Given the description of an element on the screen output the (x, y) to click on. 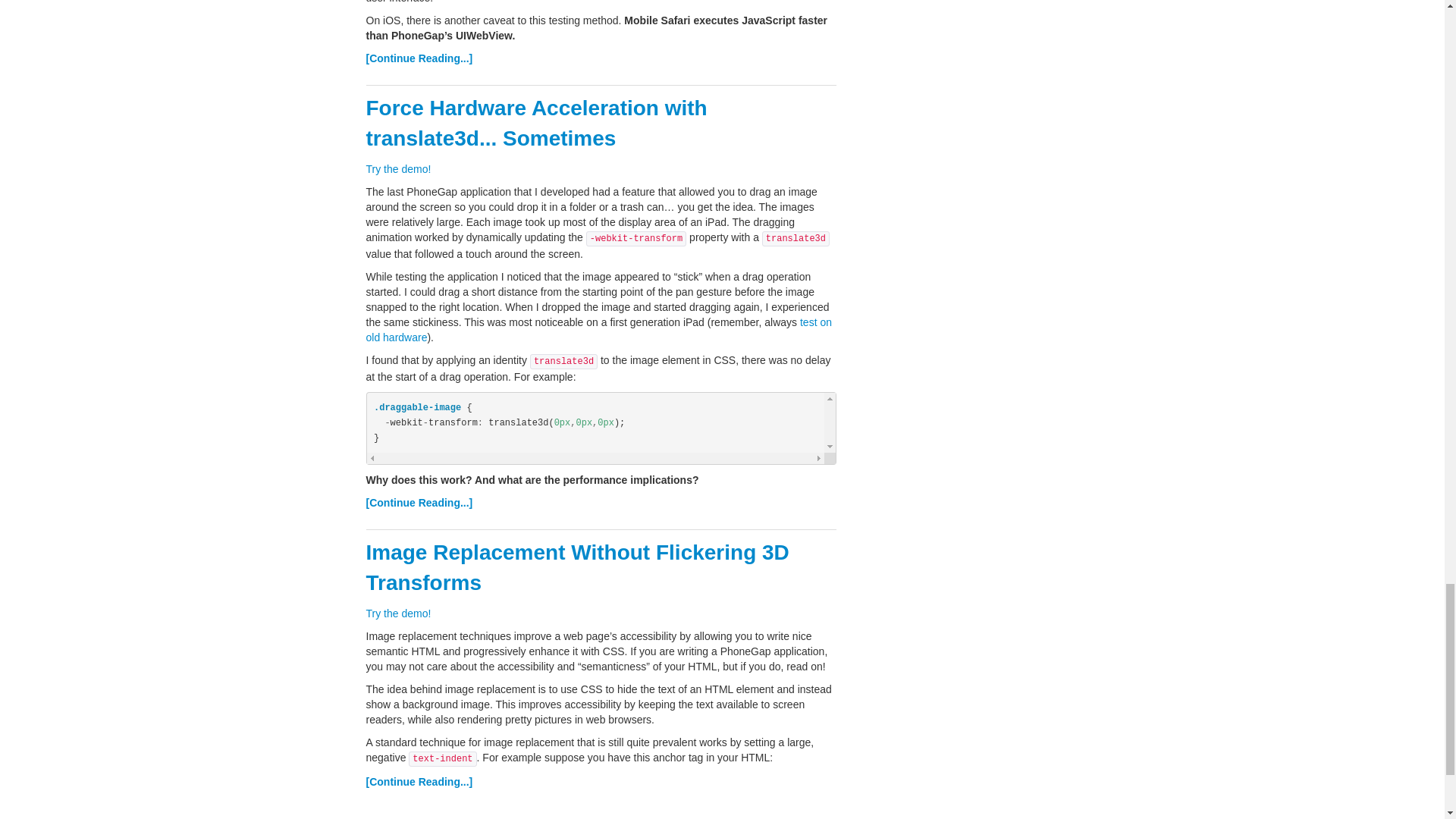
Try the demo! (397, 168)
test on old hardware (598, 329)
Try the demo! (397, 613)
Image Replacement Without Flickering 3D Transforms (577, 567)
Force Hardware Acceleration with translate3d... Sometimes (535, 122)
